Given the description of an element on the screen output the (x, y) to click on. 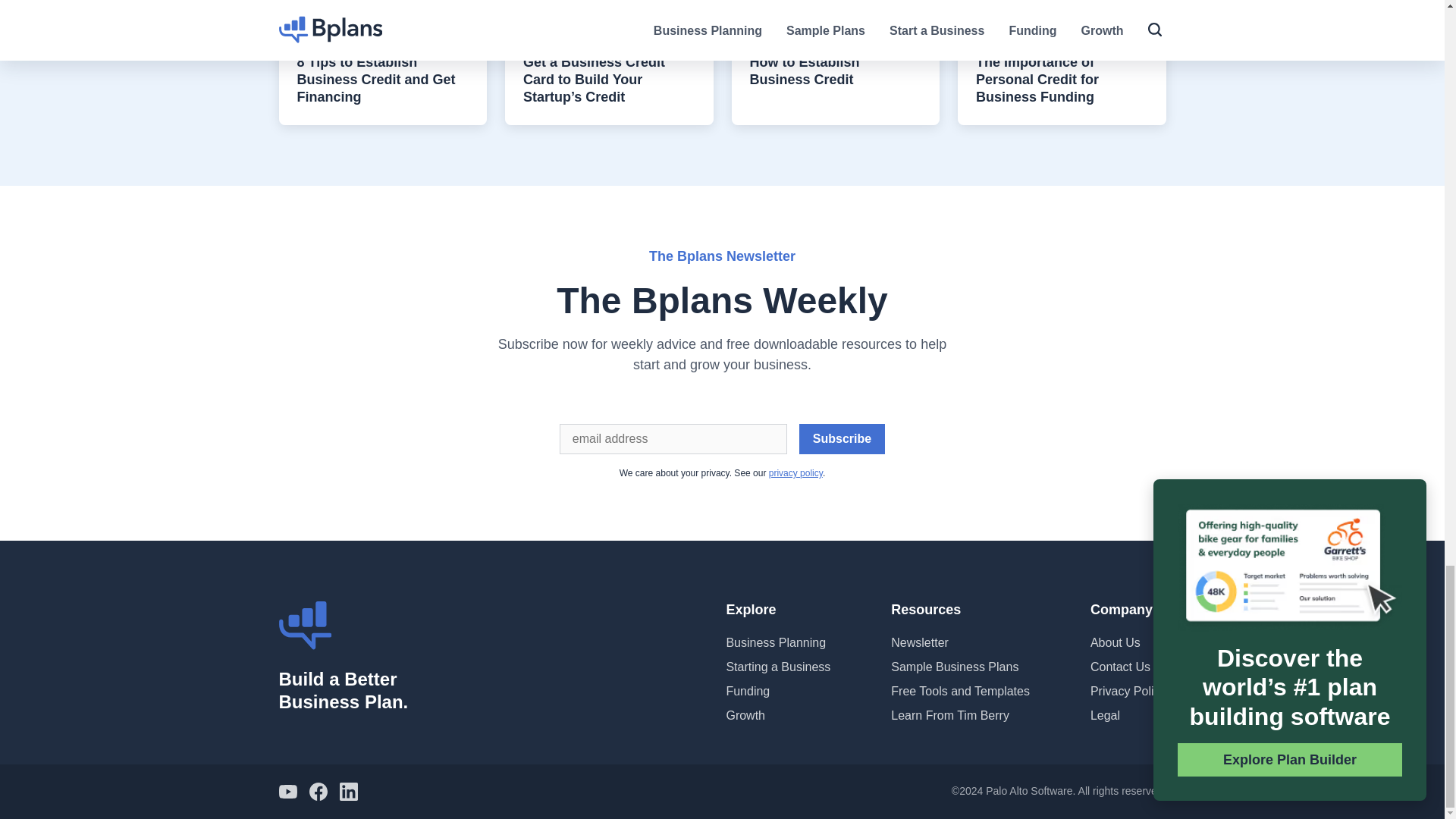
Why you need to care about personal credit (1062, 6)
How to build business credit (834, 6)
Get a business credit card to build startup credit (609, 6)
Subscribe (842, 439)
Tips to establish business credit and get financing (383, 6)
